Given the description of an element on the screen output the (x, y) to click on. 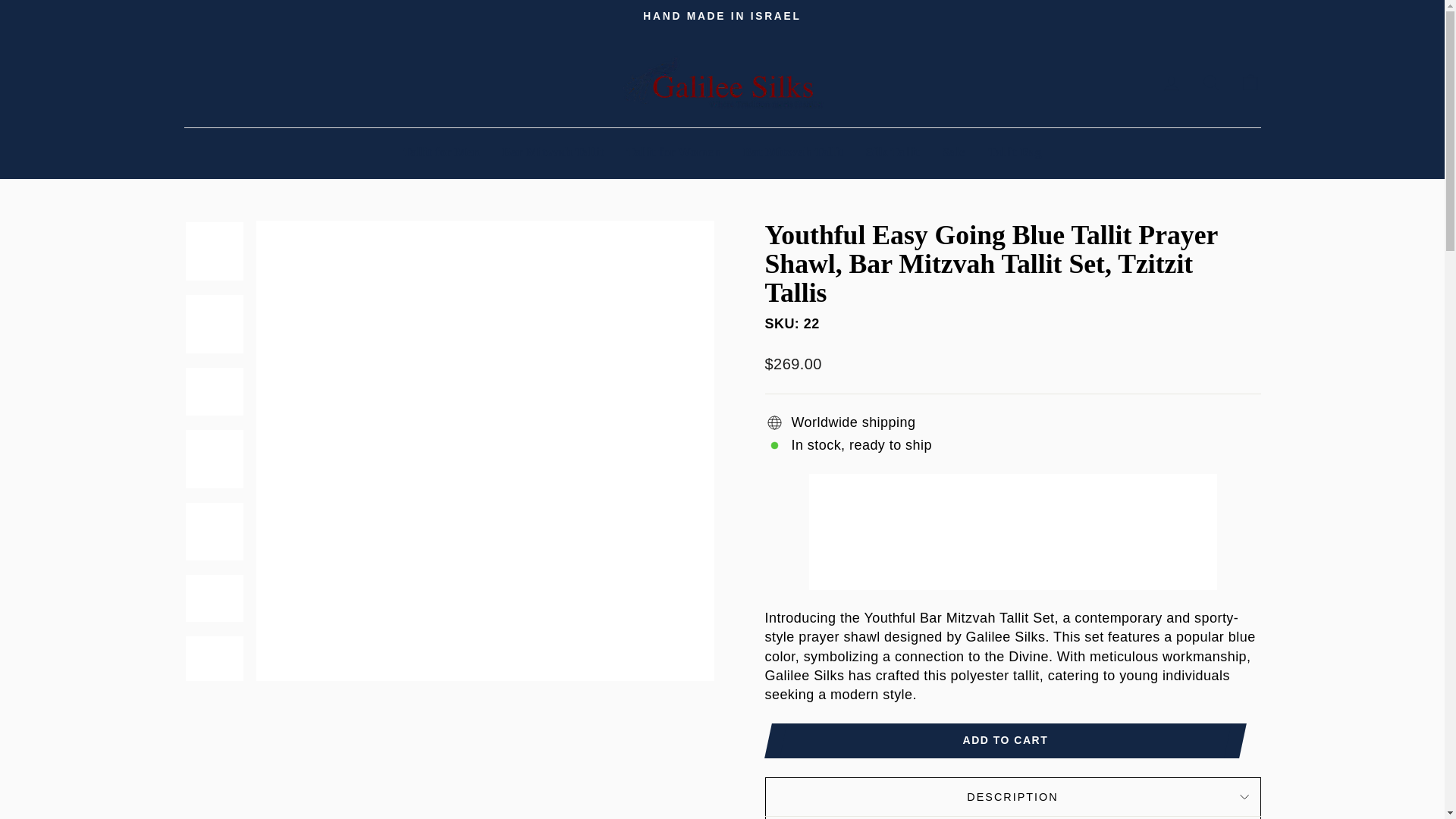
Silk Tallit (892, 151)
Bar Mitzvah Tallit (553, 151)
Search (1210, 82)
Sale (953, 151)
Tallit for Men (441, 151)
Bat Mitzvah Tallit (793, 151)
Cart (1249, 82)
Tallit Bag (1014, 151)
Tallit for Women (672, 151)
Log in (1171, 82)
